Given the description of an element on the screen output the (x, y) to click on. 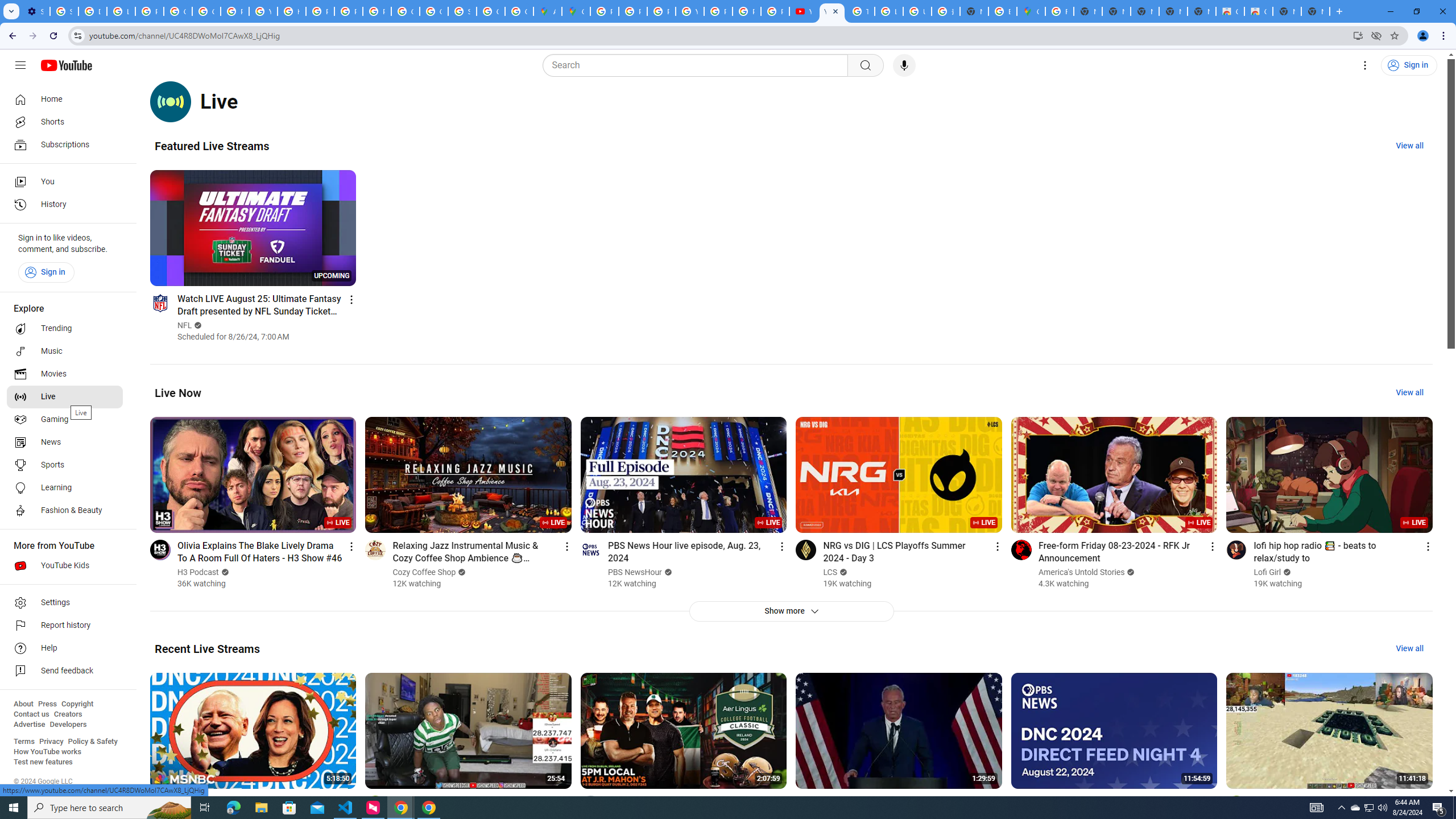
Sign in - Google Accounts (63, 11)
Create your Google Account (518, 11)
Show more (790, 610)
America's Untold Stories (1081, 572)
Settings (1365, 65)
New Tab (1315, 11)
Recent Live Streams (207, 648)
Test new features (42, 761)
Home (64, 99)
Privacy Checkup (774, 11)
Delete photos & videos - Computer - Google Photos Help (92, 11)
Live (64, 396)
